Given the description of an element on the screen output the (x, y) to click on. 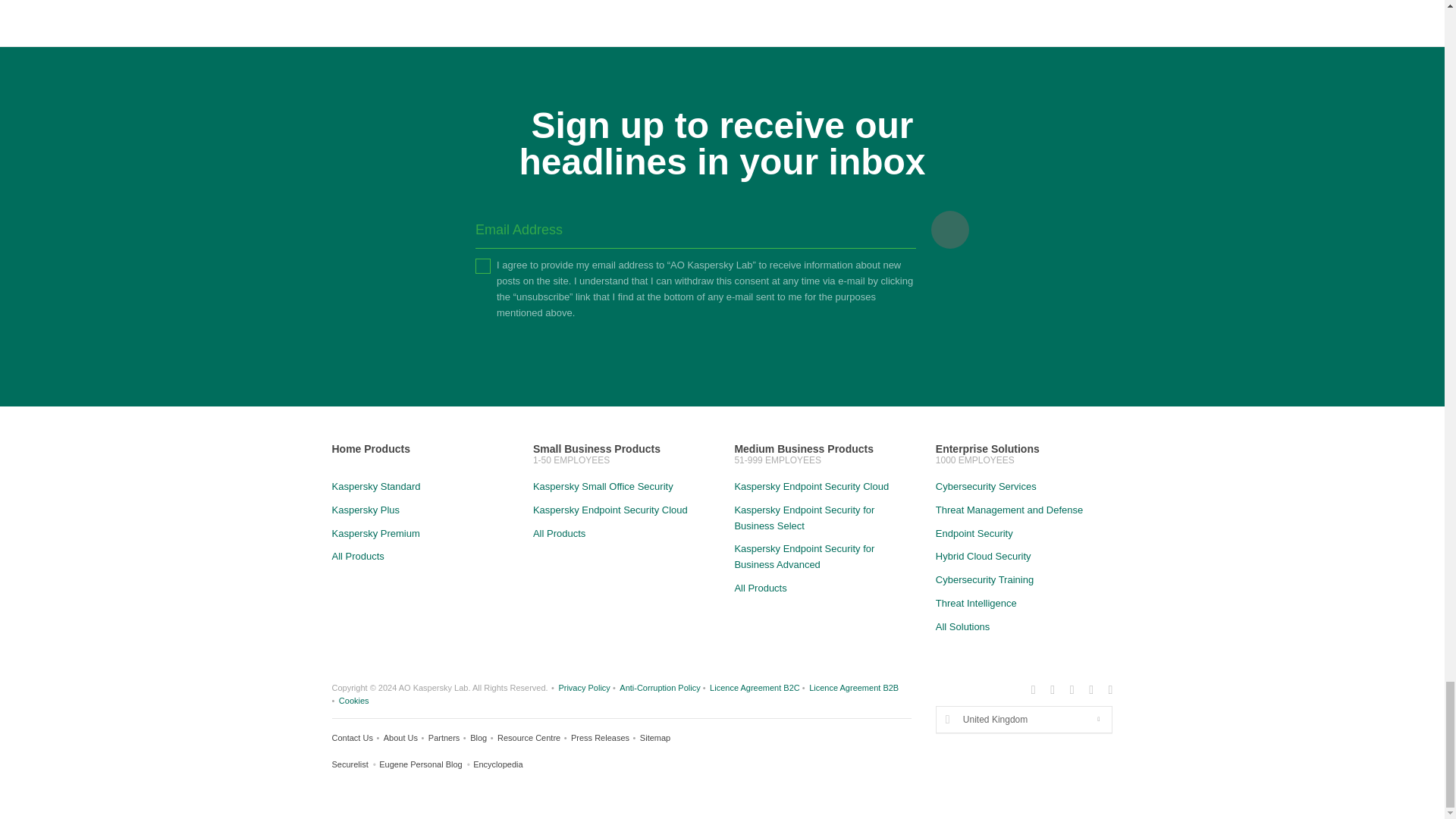
Sign me Up (950, 229)
